Given the description of an element on the screen output the (x, y) to click on. 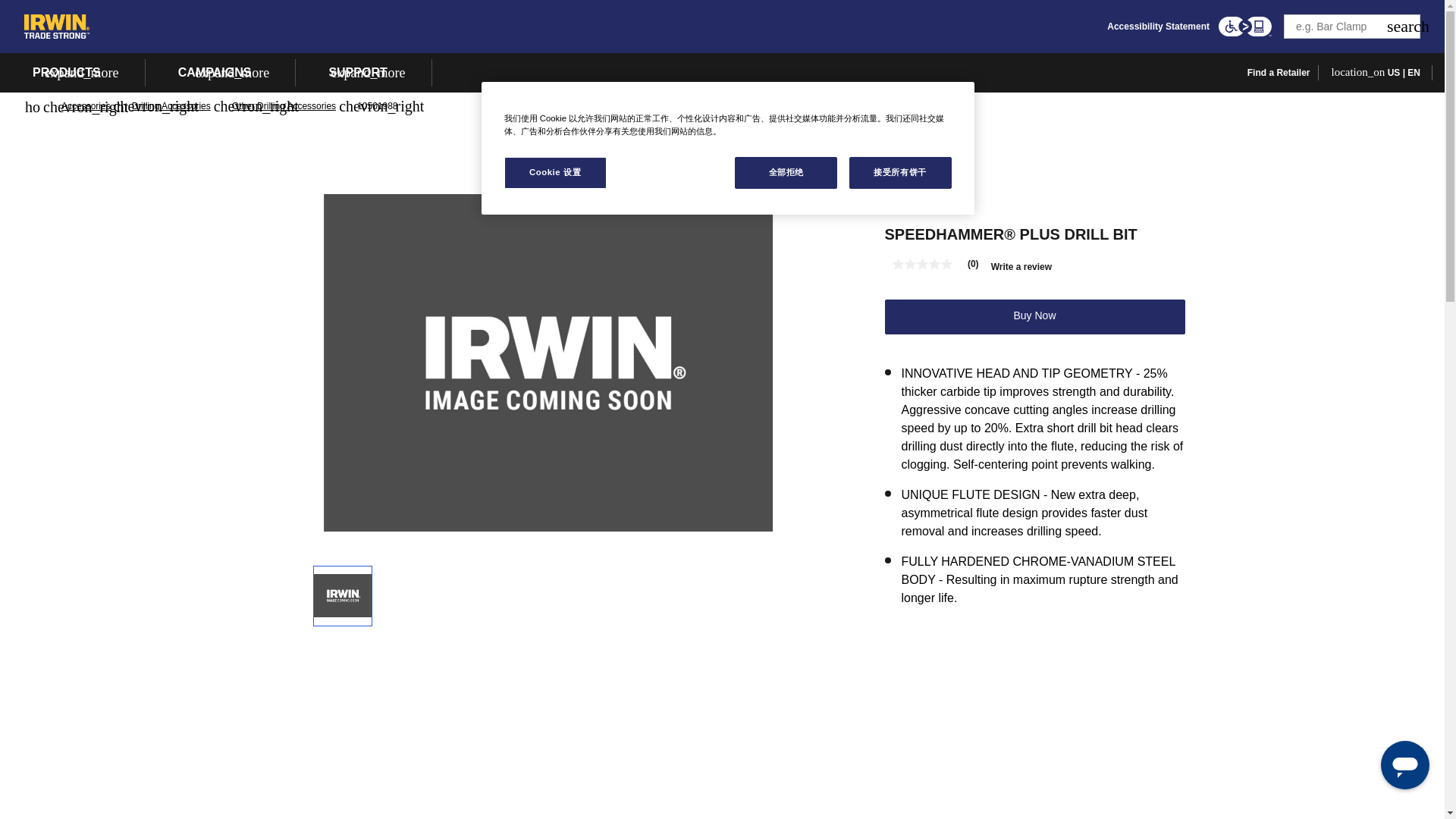
Accessibility Statement (1157, 26)
Search (1408, 26)
Search (1408, 26)
Skip to main content (721, 16)
Accessibility Statement (1157, 26)
